Given the description of an element on the screen output the (x, y) to click on. 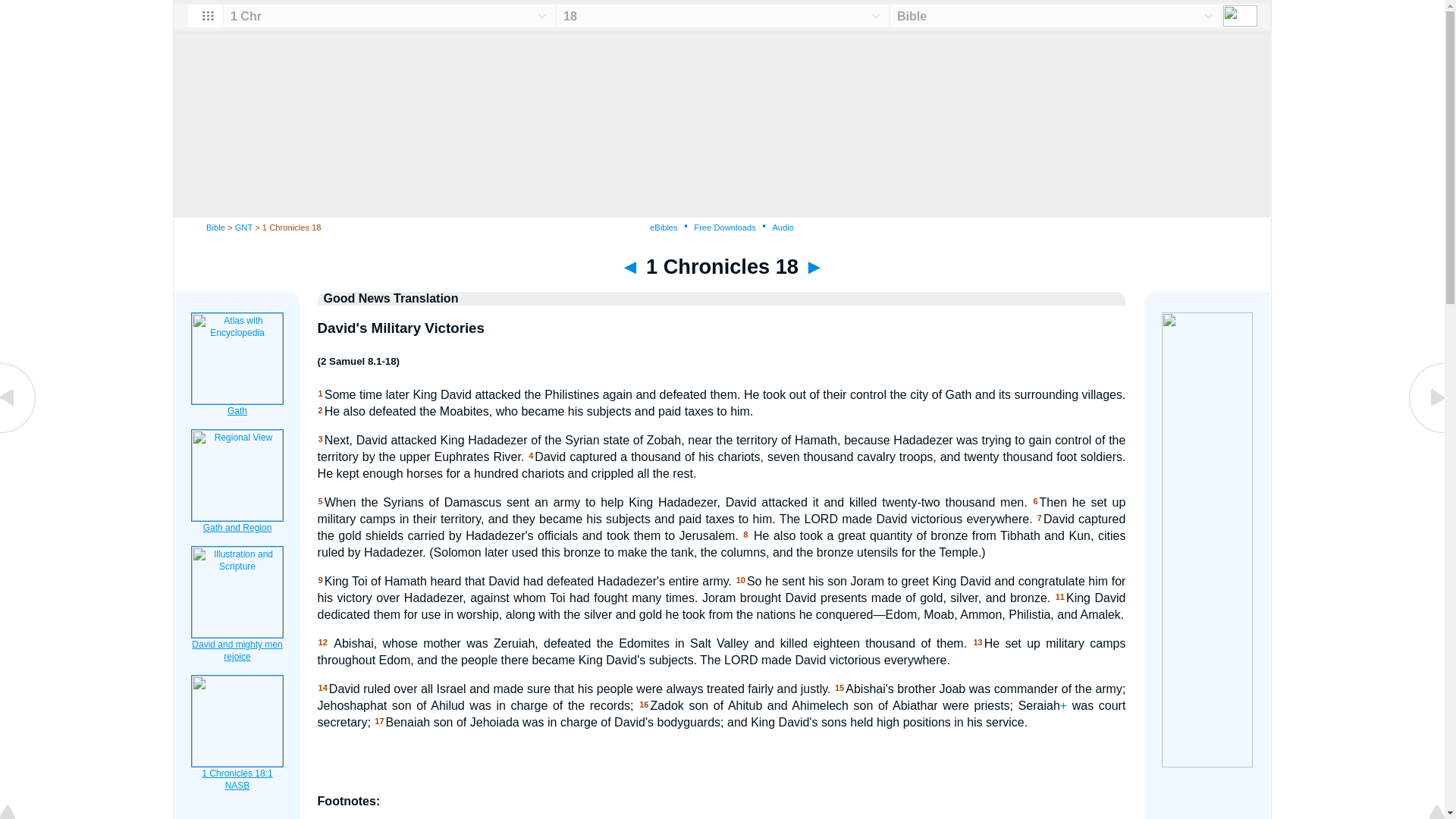
Bible (215, 226)
GNT (242, 226)
1 Chronicles 17 (18, 431)
Top of Page (18, 813)
